Given the description of an element on the screen output the (x, y) to click on. 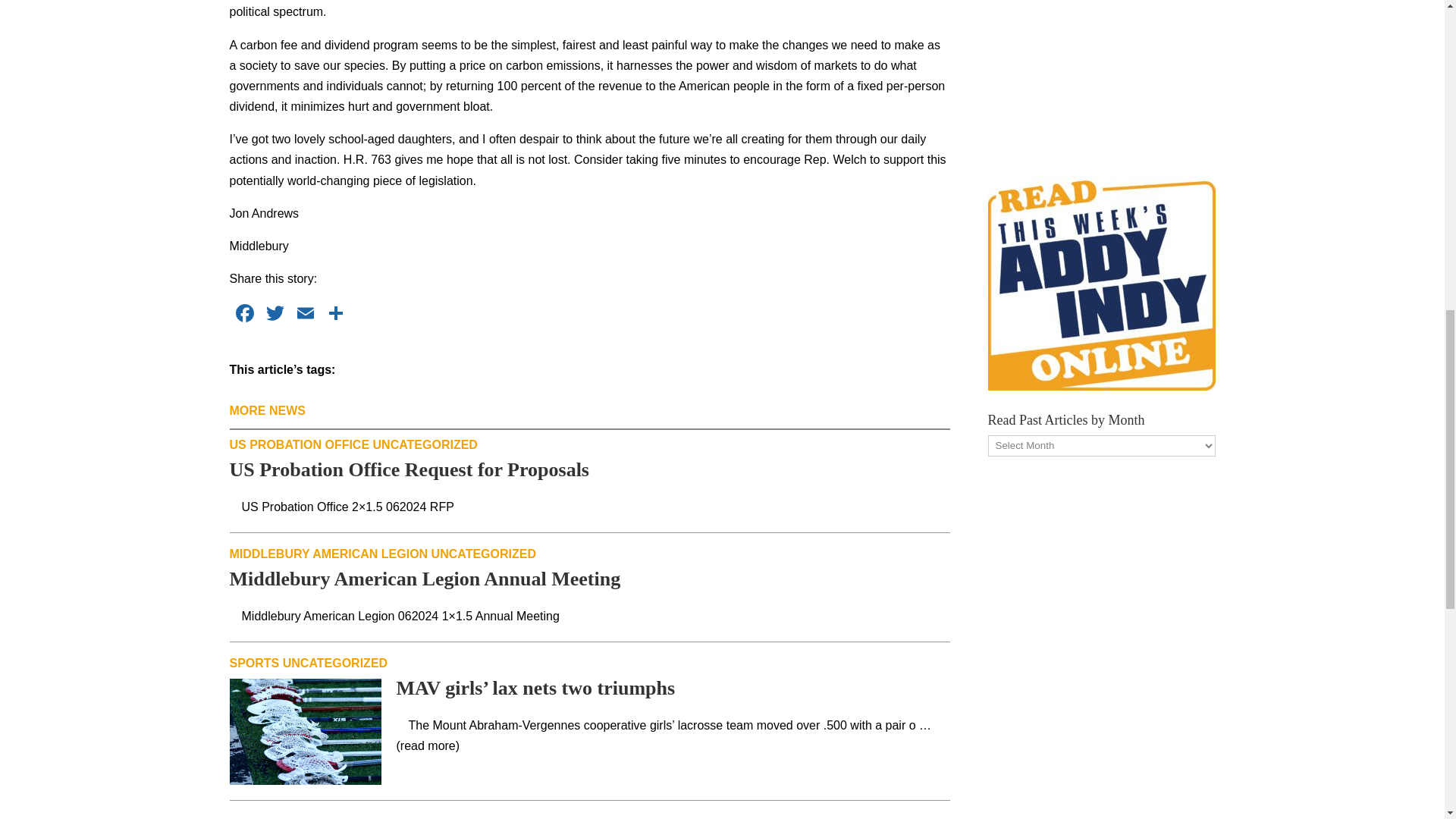
Twitter (274, 315)
3rd party ad content (1100, 70)
Facebook (243, 315)
Email (304, 315)
